Given the description of an element on the screen output the (x, y) to click on. 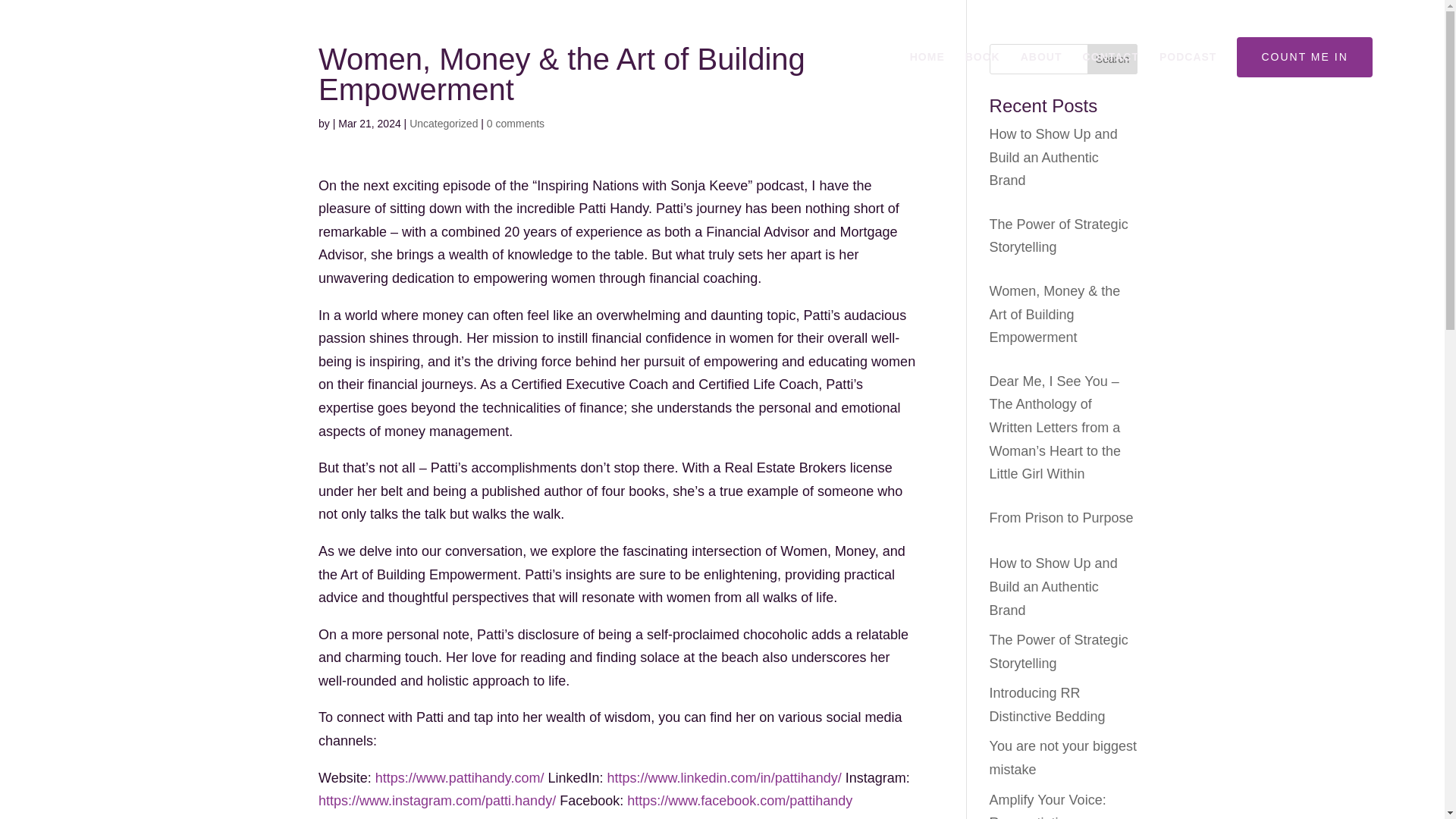
Search (1112, 59)
The Power of Strategic Storytelling (1059, 236)
Uncategorized (443, 123)
From Prison to Purpose (1062, 517)
You are not your biggest mistake (1063, 757)
How to Show Up and Build an Authentic Brand (1054, 157)
Amplify Your Voice: Renegotiating Stakeholder Relationships (1048, 805)
Search (1112, 59)
CONTACT (1110, 82)
PODCAST (1186, 82)
